Given the description of an element on the screen output the (x, y) to click on. 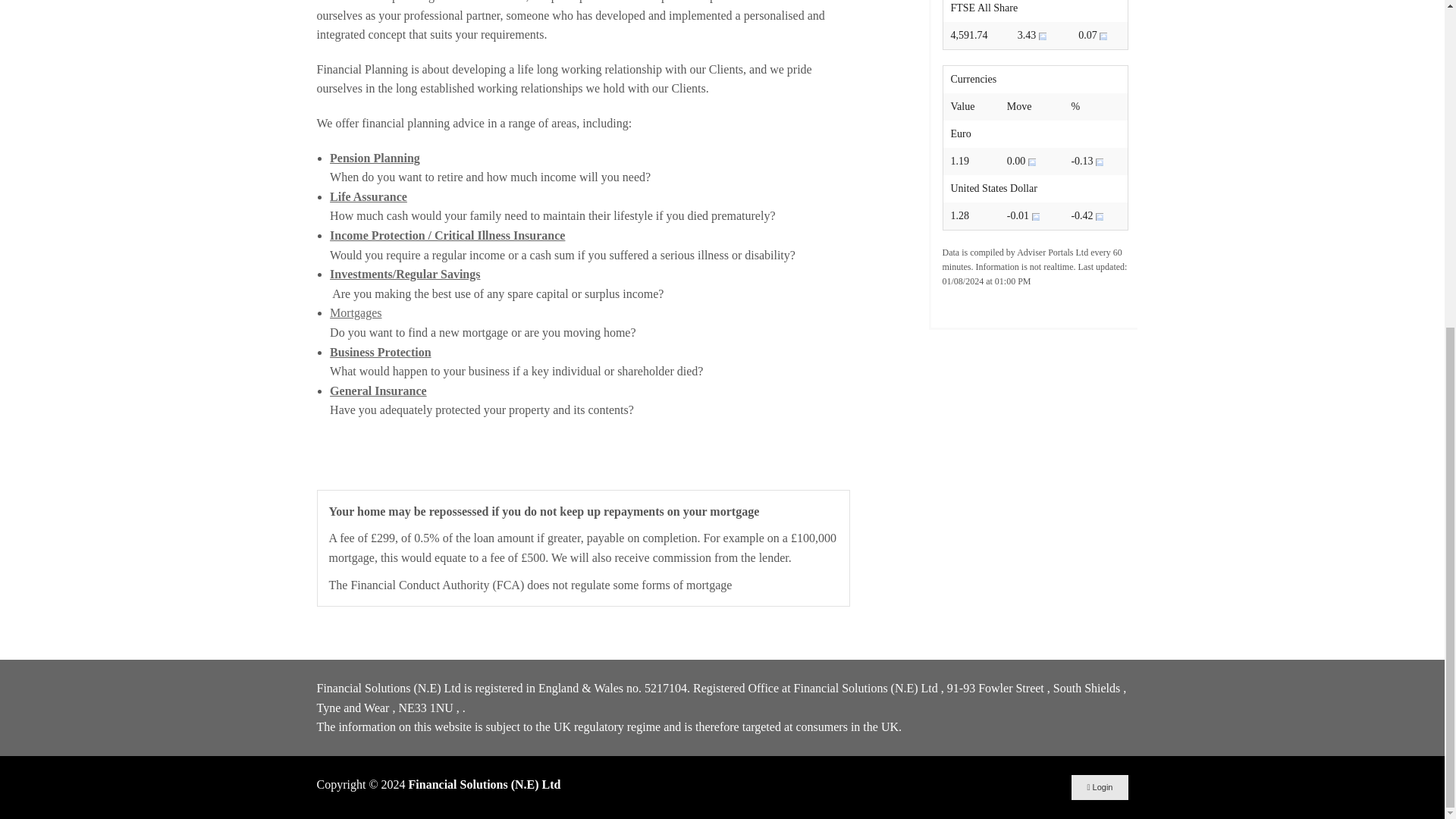
Pension Planning (375, 157)
